Given the description of an element on the screen output the (x, y) to click on. 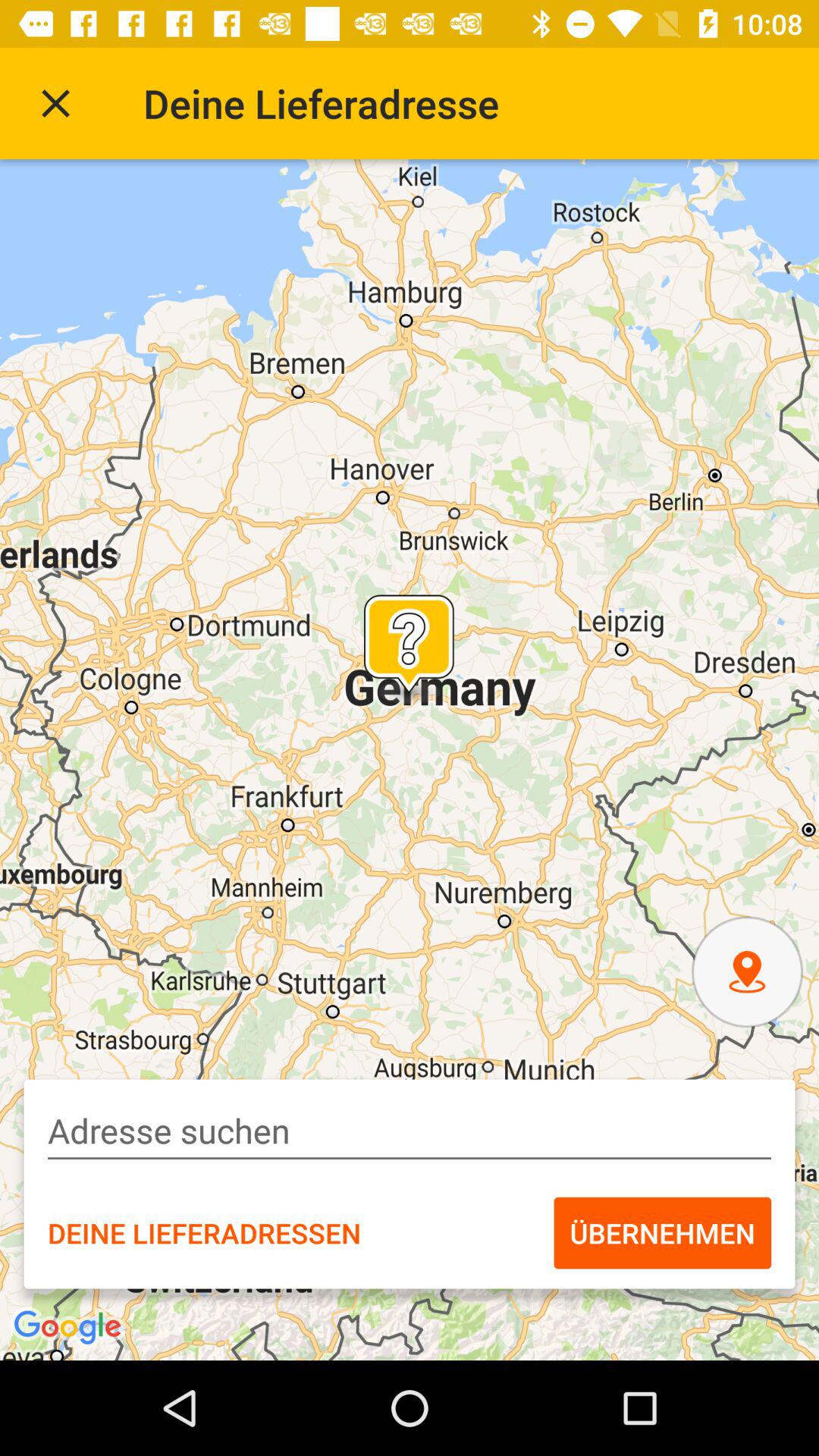
exit out (55, 103)
